Given the description of an element on the screen output the (x, y) to click on. 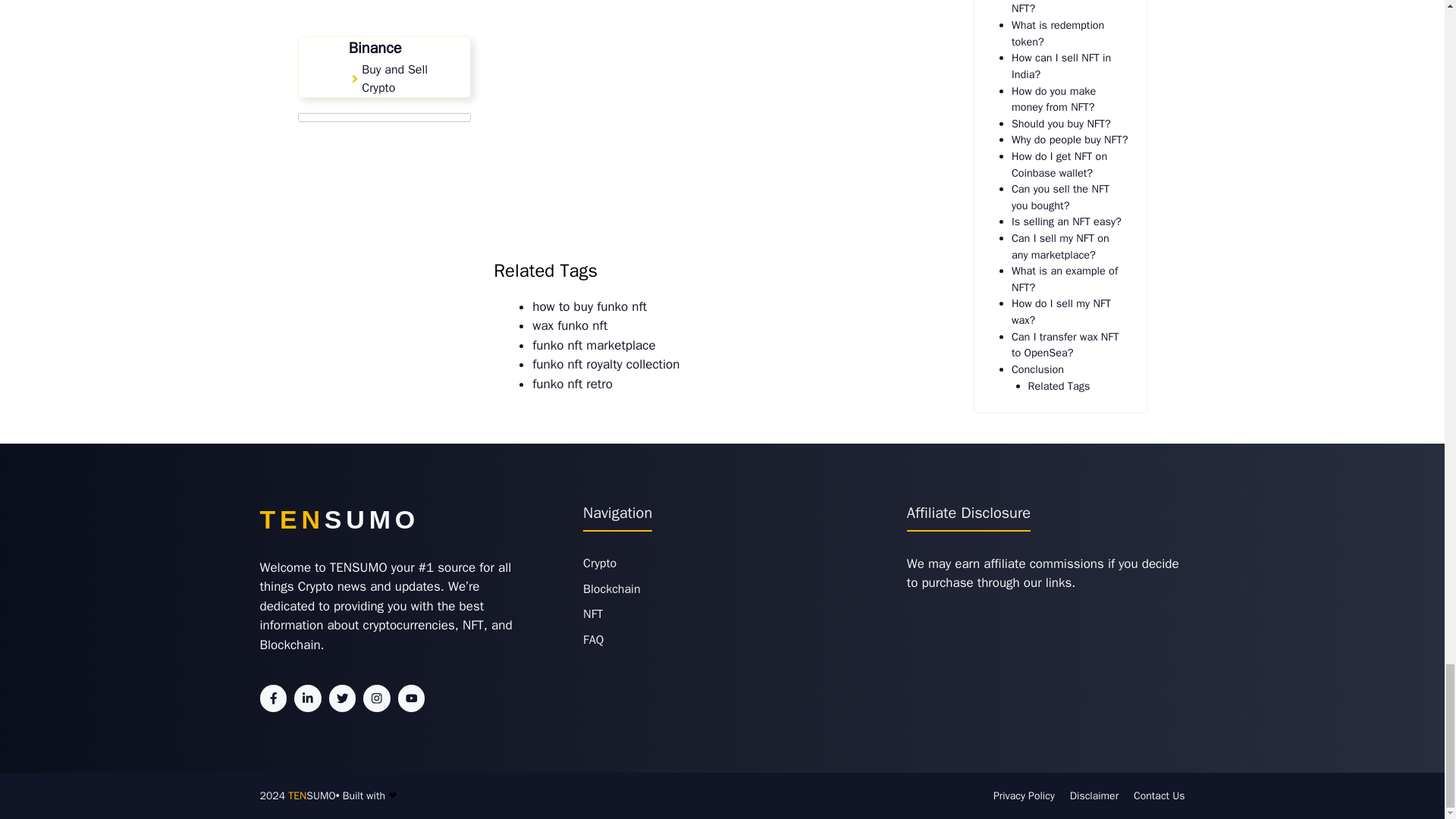
NFT (592, 614)
Blockchain (611, 588)
Crypto (599, 563)
